Given the description of an element on the screen output the (x, y) to click on. 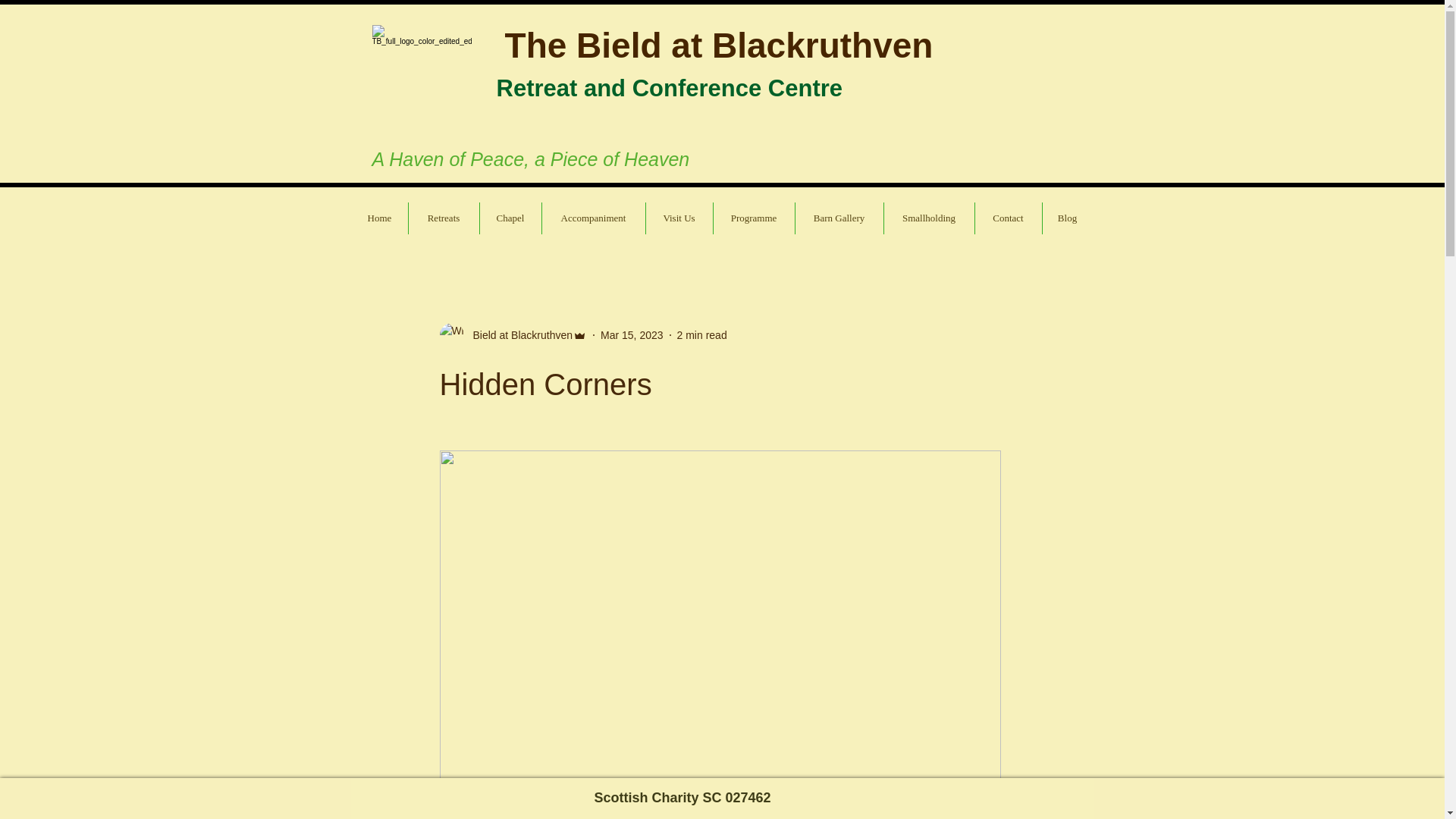
Barn Gallery (838, 218)
Smallholding (928, 218)
Home (379, 218)
Contact (1008, 218)
Visit Us (679, 218)
Blog (1067, 218)
Mar 15, 2023 (631, 335)
Retreats (443, 218)
2 min read (701, 335)
Accompaniment (593, 218)
